Given the description of an element on the screen output the (x, y) to click on. 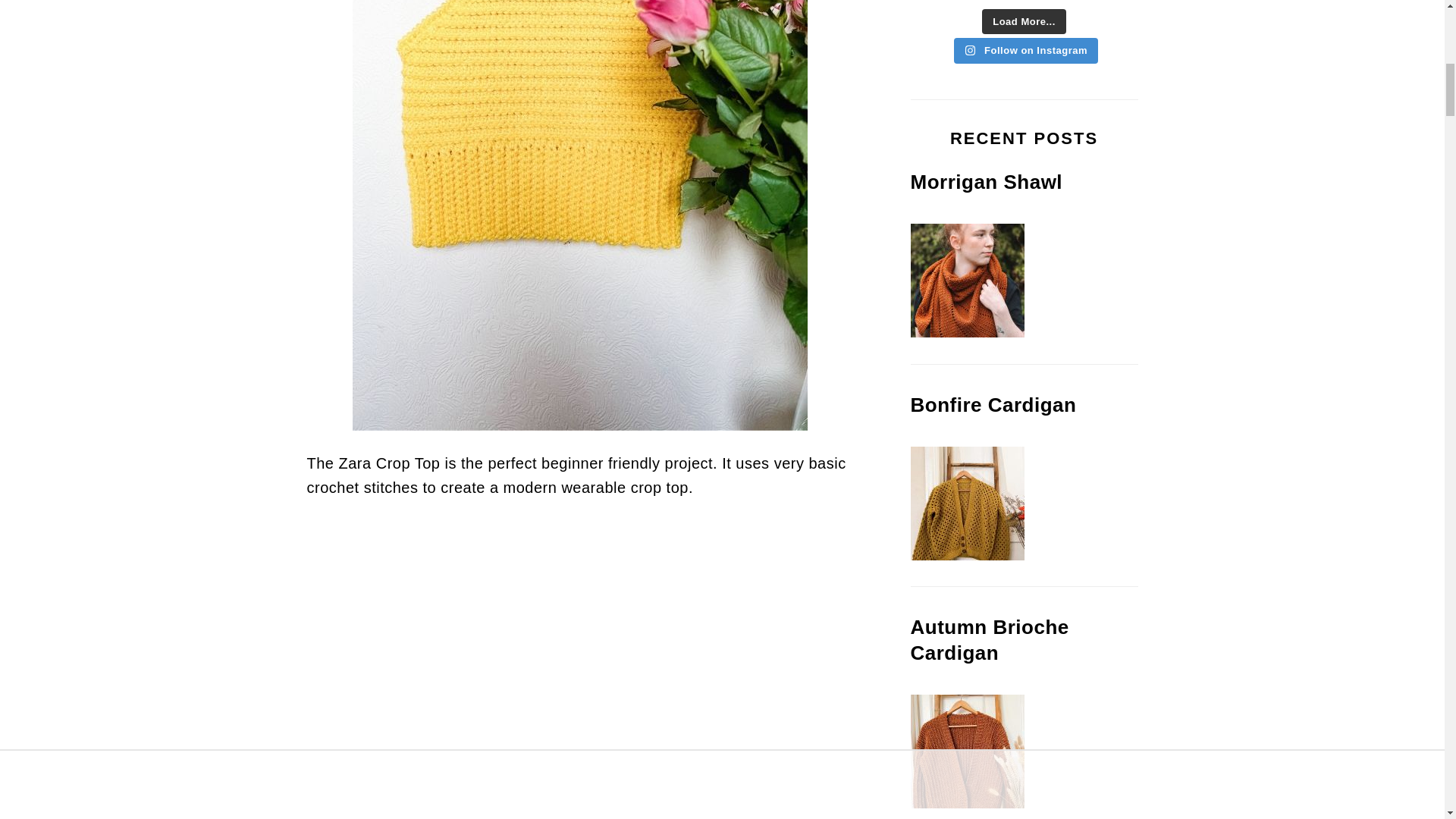
Autumn Brioche Cardigan (966, 803)
Morrigan Shawl (966, 332)
Load More... (1023, 22)
Bonfire Cardigan (966, 555)
